Given the description of an element on the screen output the (x, y) to click on. 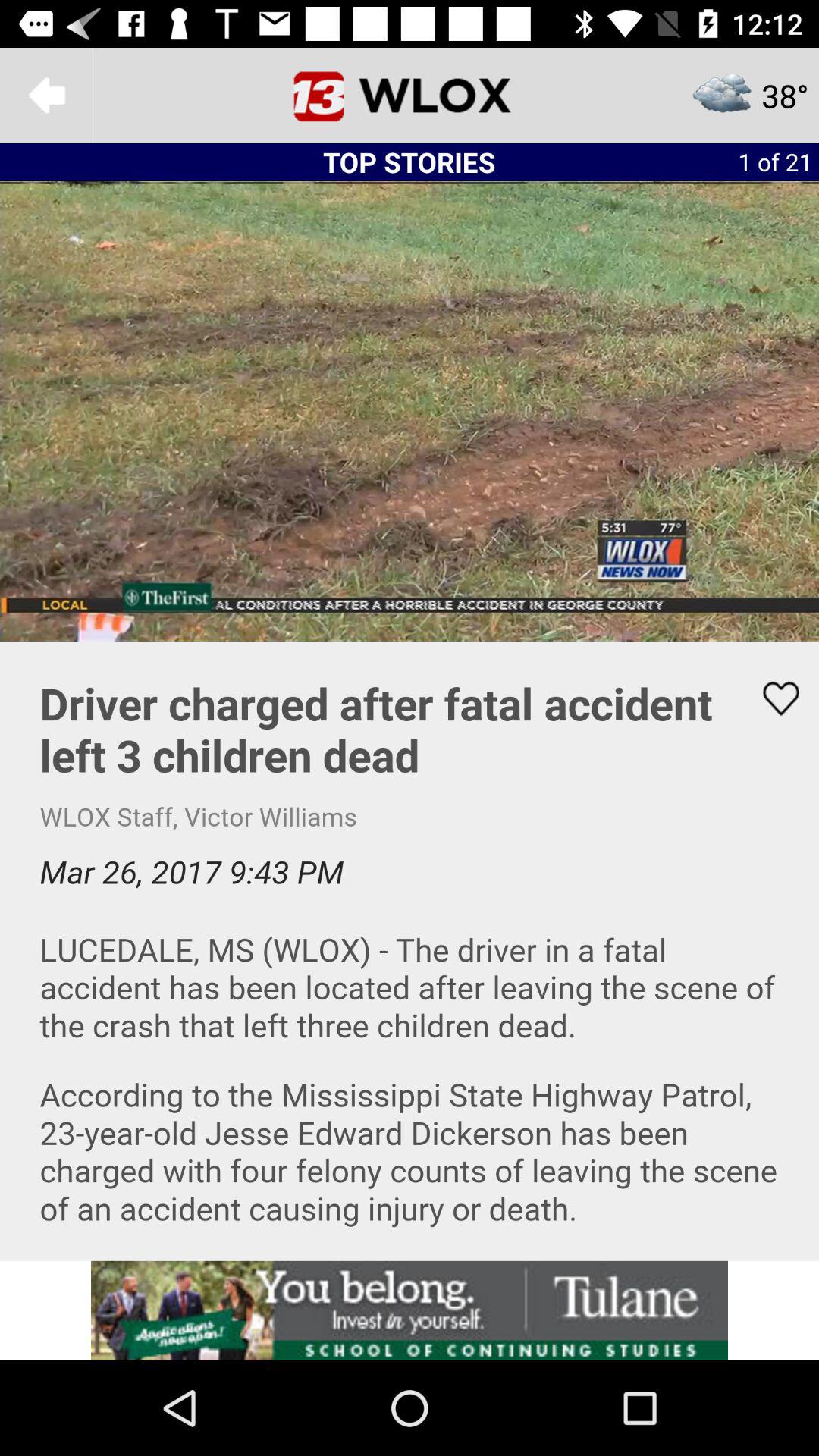
heart emoji (771, 698)
